Given the description of an element on the screen output the (x, y) to click on. 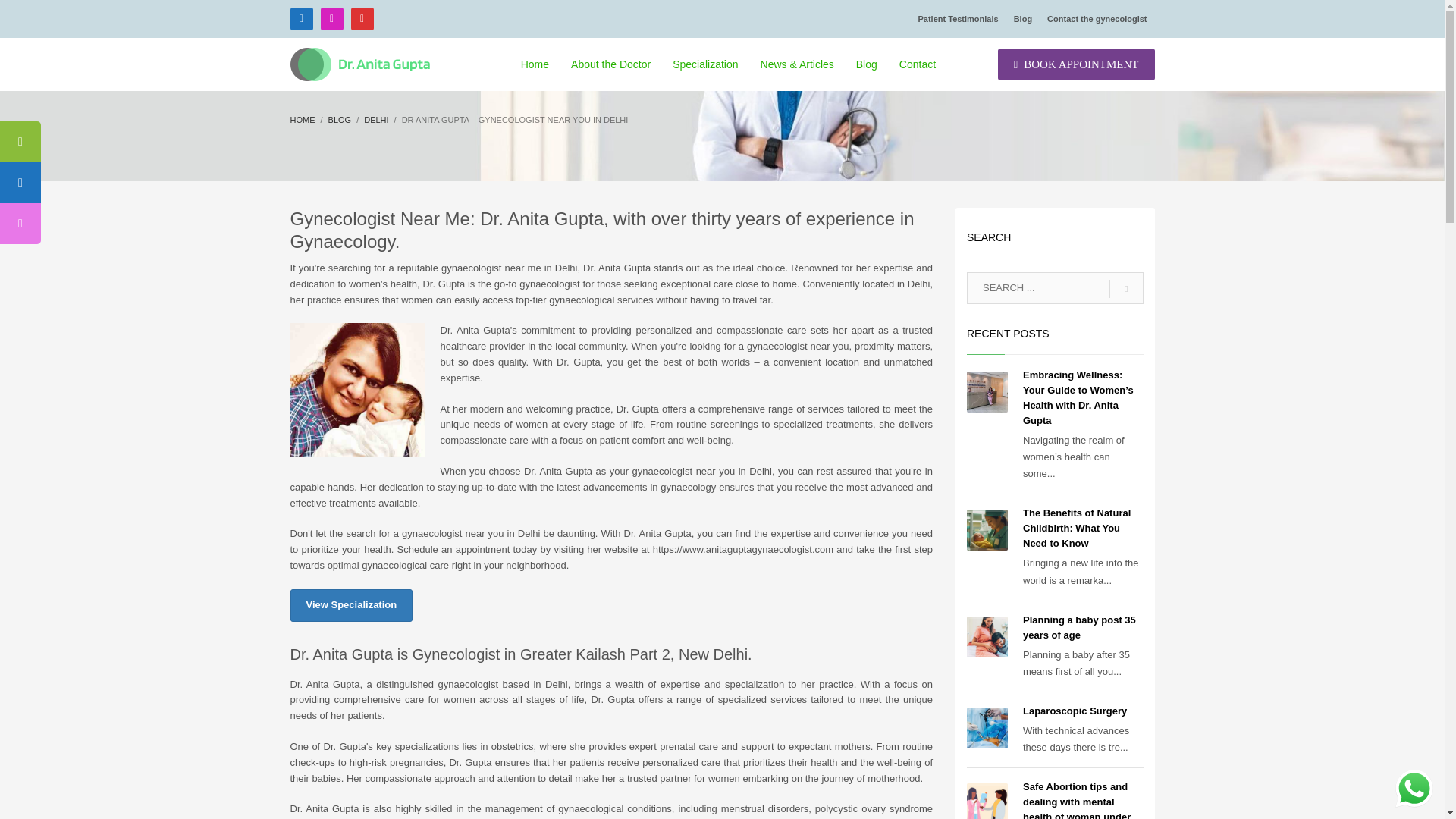
Laparoscopic Surgery (1074, 710)
Instagram (331, 18)
Blog (340, 119)
HOME (301, 119)
The Benefits of Natural Childbirth: What You Need to Know (1077, 527)
Planning a baby post 35 years of age (1079, 627)
View Specialization (350, 604)
Contact the gynecologist (1096, 18)
BOOK APPOINTMENT (1075, 64)
Blog (866, 64)
About the Doctor (610, 64)
Specialization (704, 64)
The Benefits of Natural Childbirth: What You Need to Know (1077, 527)
Patient Testimonials (957, 18)
